Given the description of an element on the screen output the (x, y) to click on. 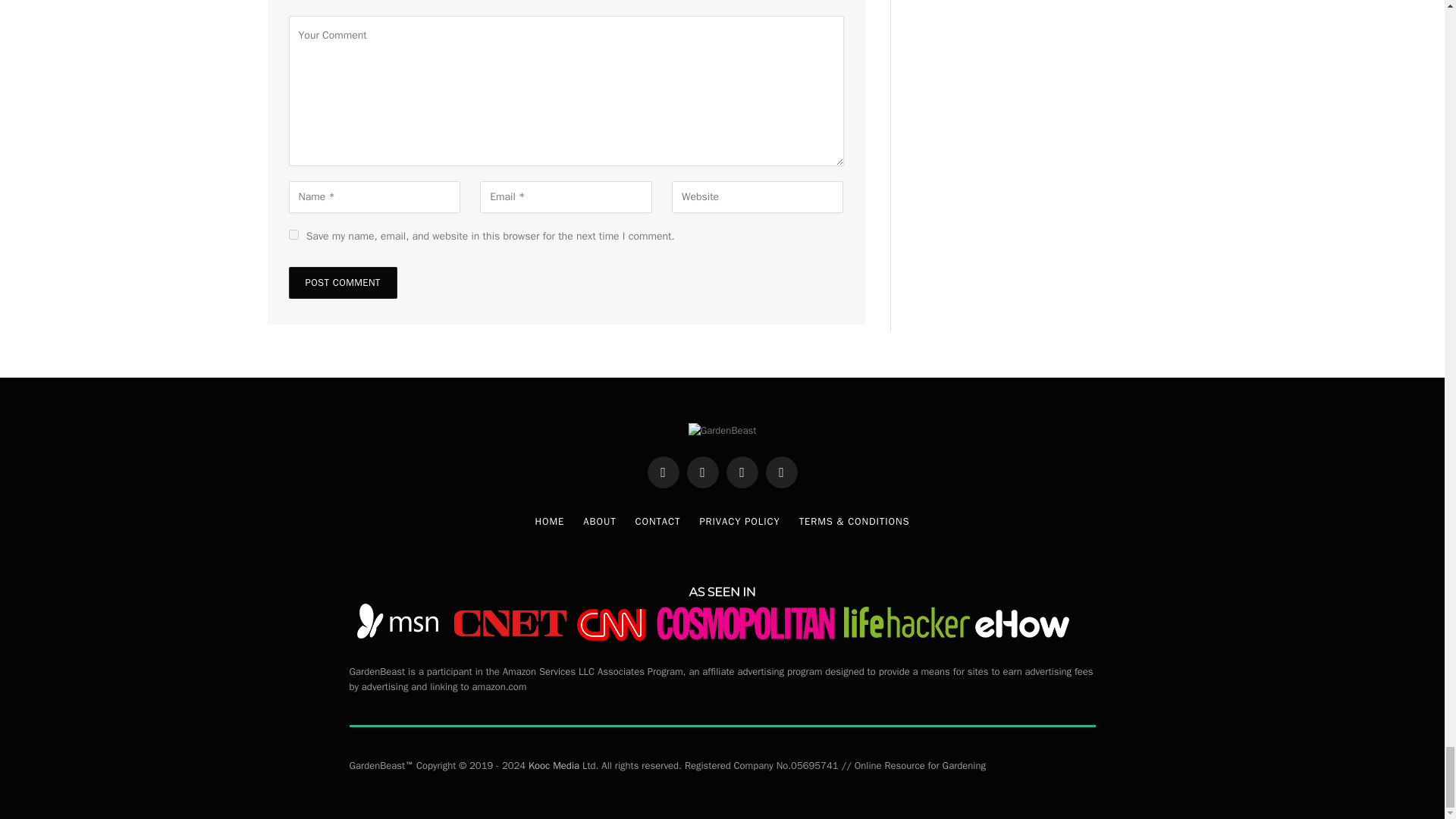
Post Comment (342, 282)
yes (293, 234)
